Given the description of an element on the screen output the (x, y) to click on. 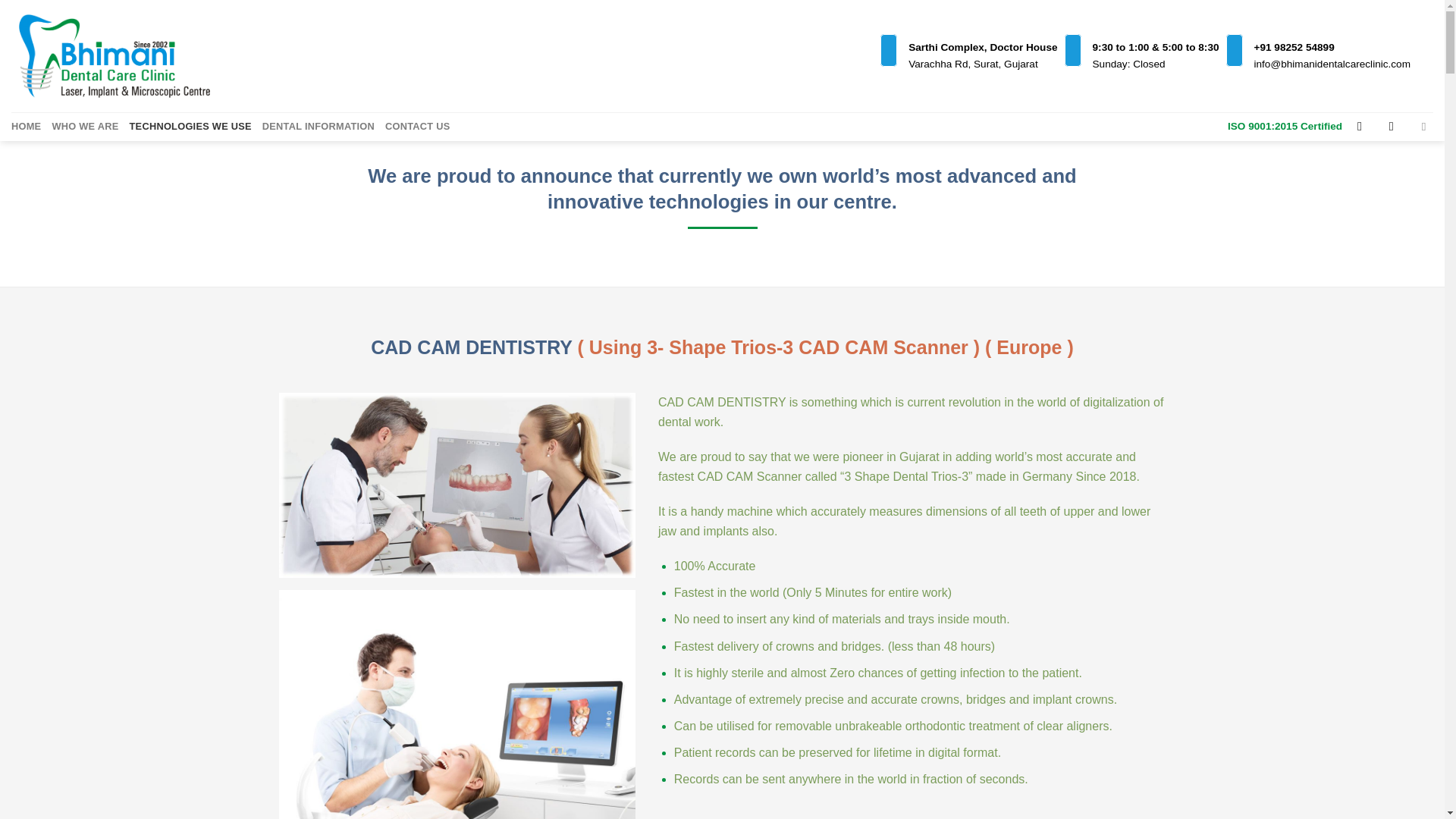
HOME (25, 126)
CONTACT US (417, 126)
TECHNOLOGIES WE USE (190, 126)
DENTAL INFORMATION (318, 126)
Dr Bhimani (113, 55)
WHO WE ARE (83, 126)
